Given the description of an element on the screen output the (x, y) to click on. 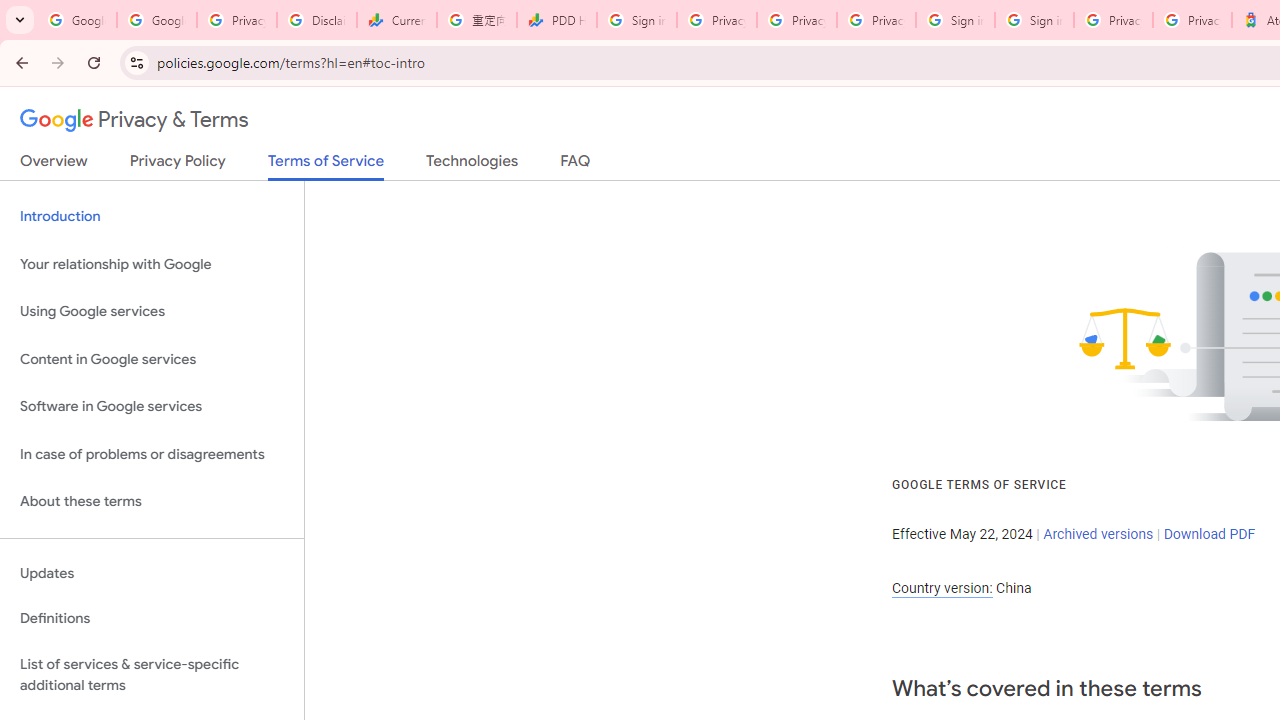
Download PDF (1209, 533)
Content in Google services (152, 358)
Currencies - Google Finance (396, 20)
